Given the description of an element on the screen output the (x, y) to click on. 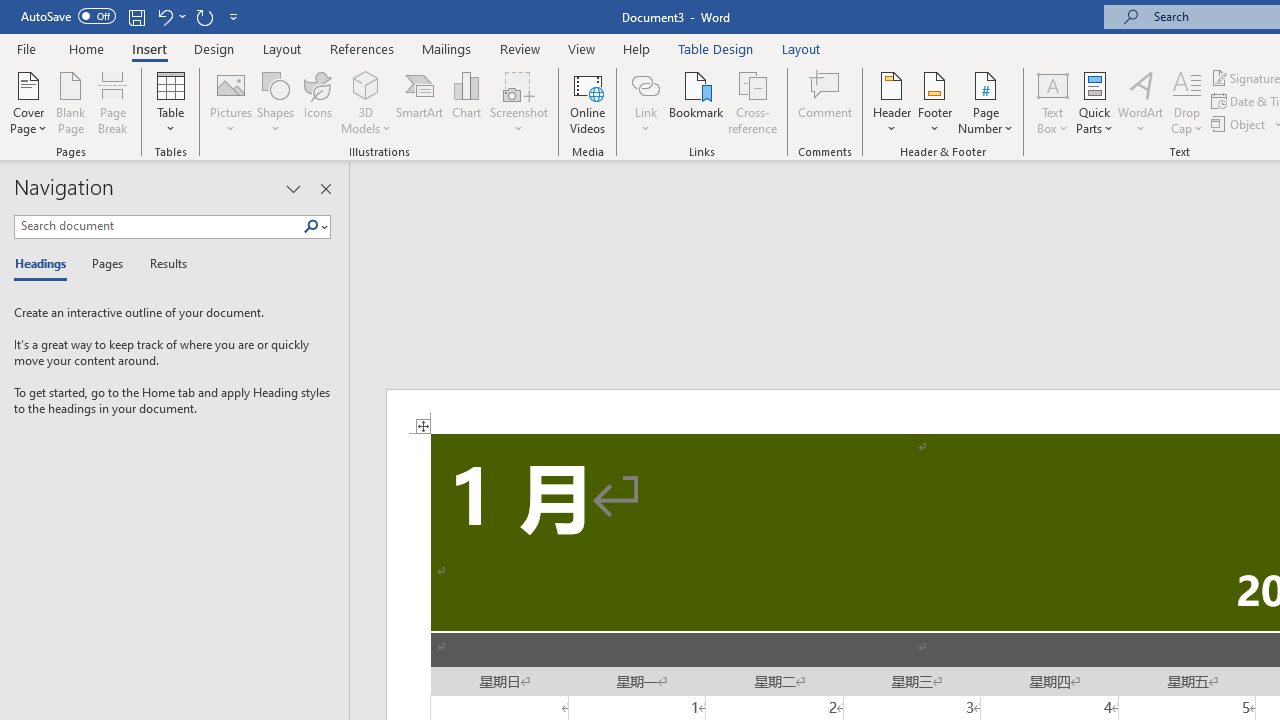
Repeat Doc Close (204, 15)
Blank Page (70, 102)
Table (170, 102)
Quick Parts (1094, 102)
Screenshot (518, 102)
Page Number (986, 102)
Chart... (466, 102)
Bookmark... (695, 102)
